Given the description of an element on the screen output the (x, y) to click on. 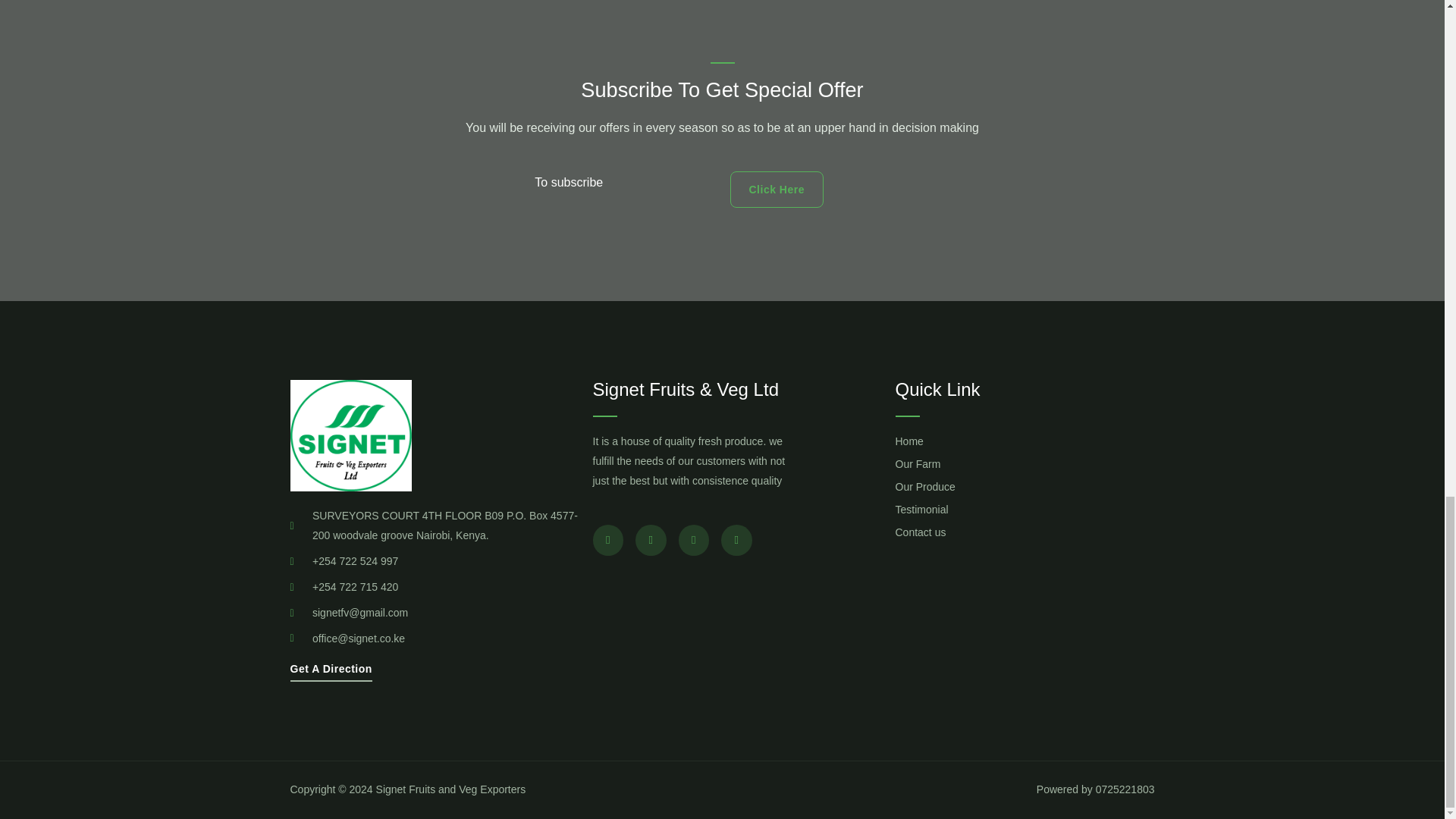
Click Here (775, 189)
Testimonial (958, 510)
Contact us (958, 532)
Home (958, 442)
Our Farm (958, 465)
Get A Direction (330, 672)
Our Produce (958, 487)
